Given the description of an element on the screen output the (x, y) to click on. 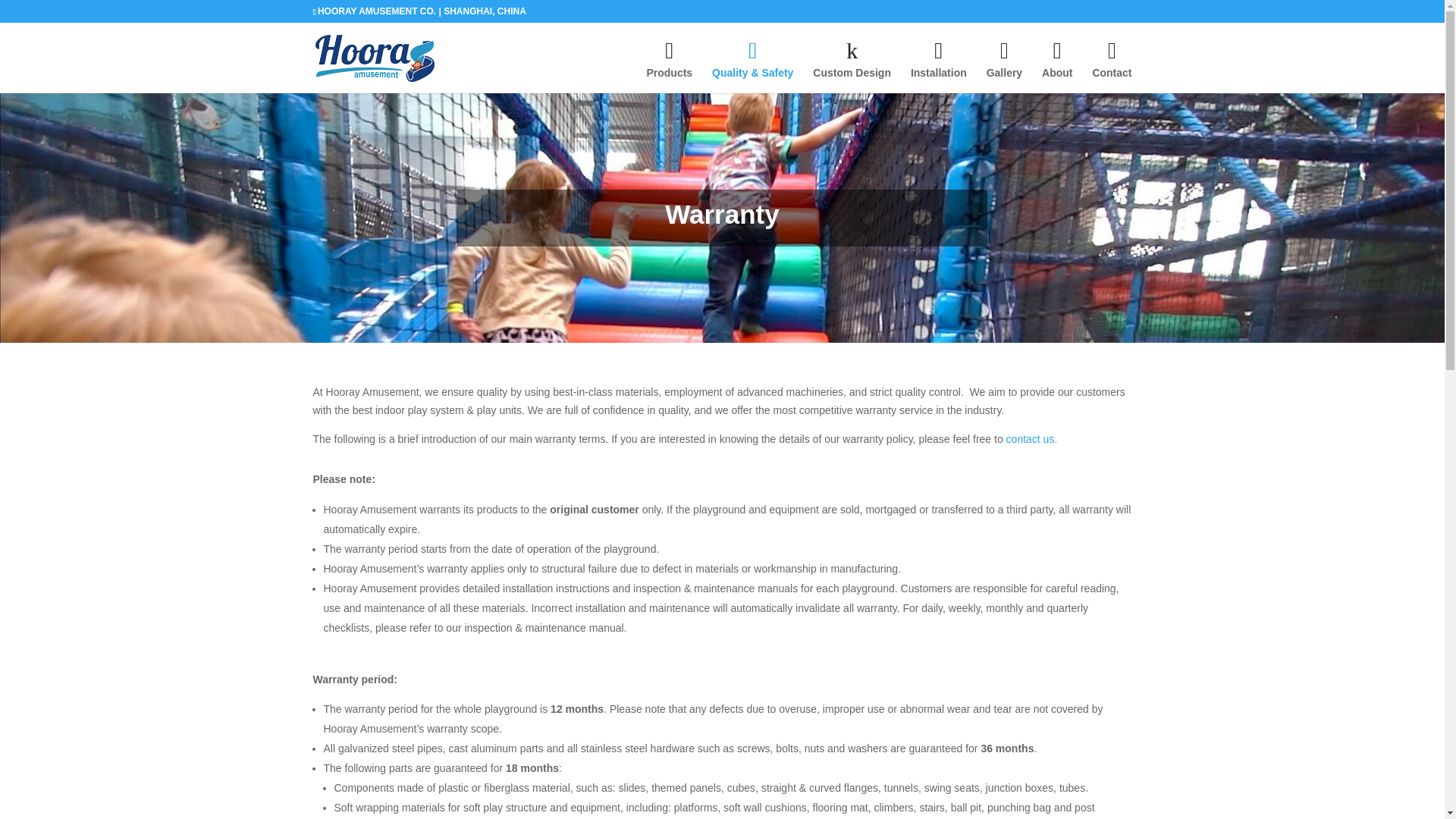
Custom Design (851, 65)
contact us. (1032, 439)
Installation (938, 65)
